Given the description of an element on the screen output the (x, y) to click on. 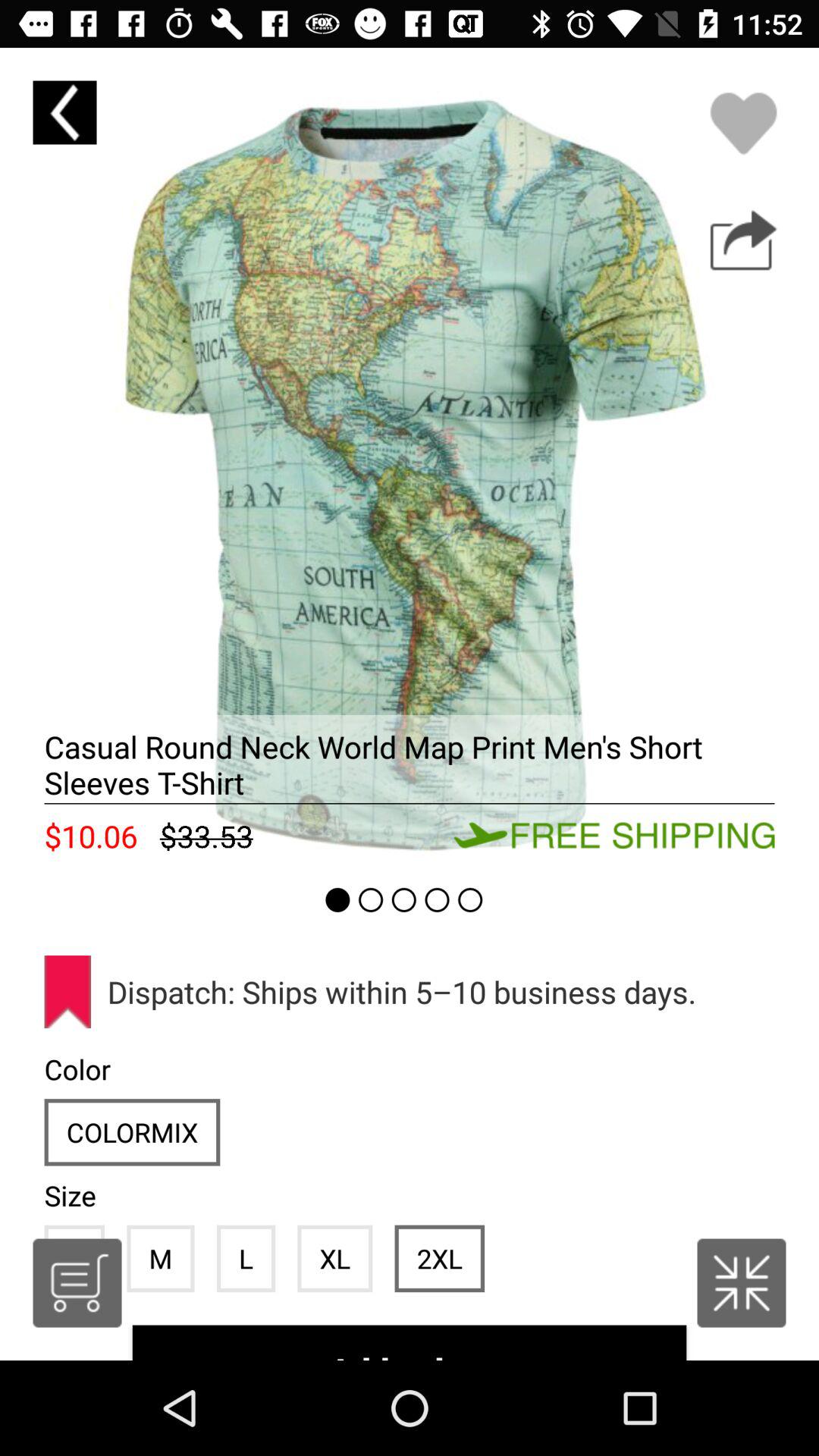
launch item above add to bag (439, 1258)
